Given the description of an element on the screen output the (x, y) to click on. 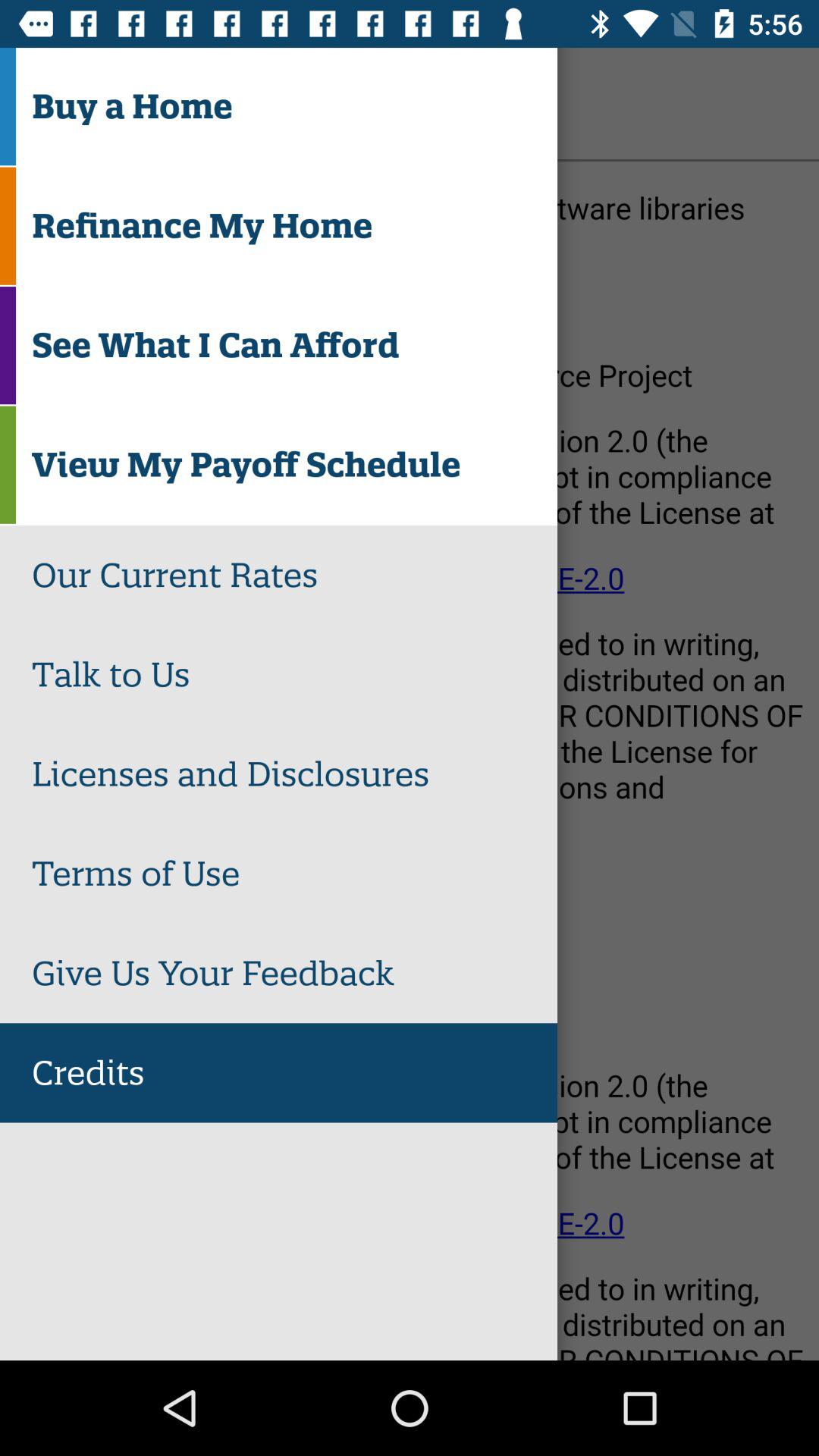
choose see what i item (294, 345)
